Given the description of an element on the screen output the (x, y) to click on. 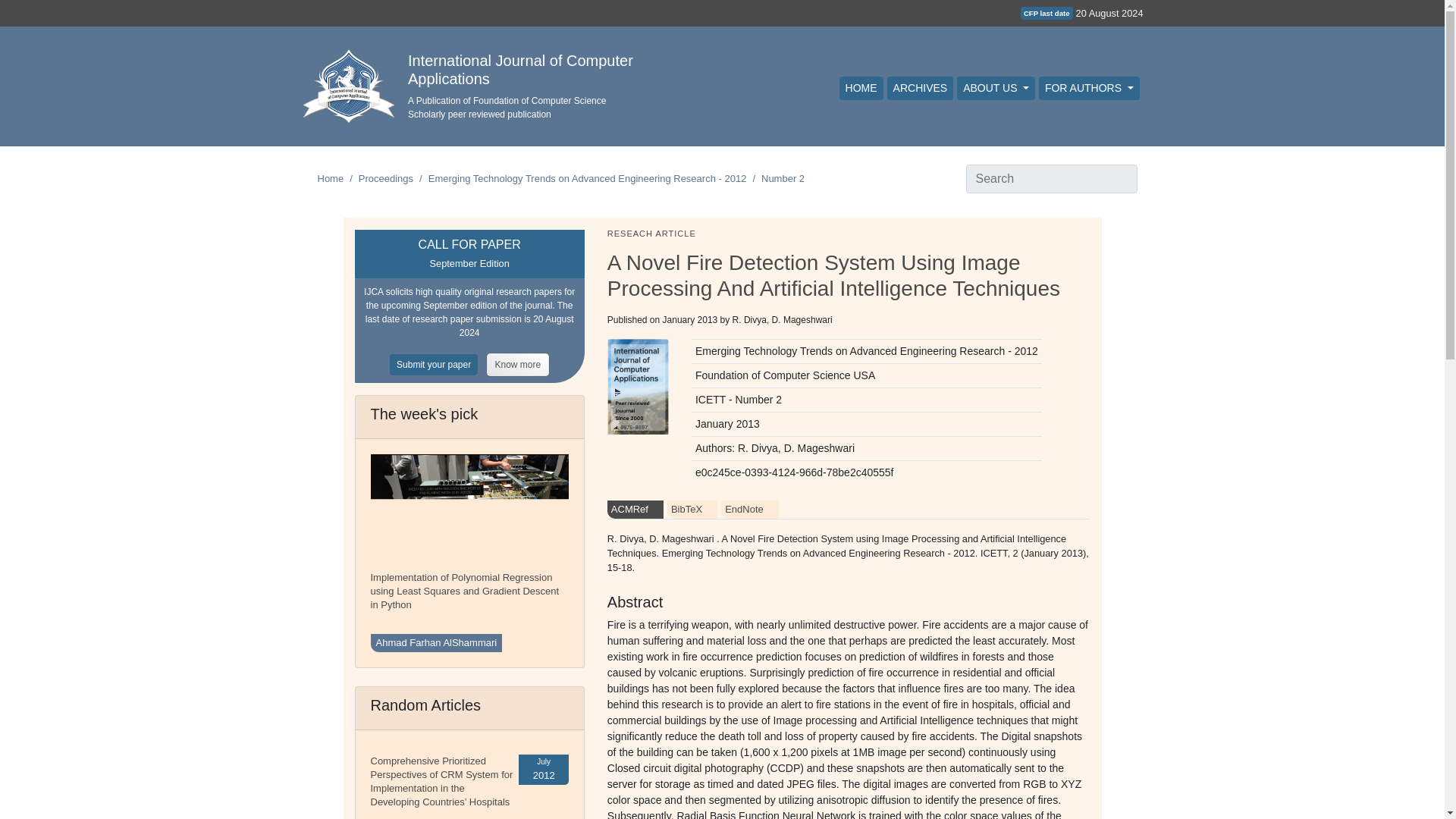
Number 2 (783, 178)
BibTeX (691, 509)
Know more (518, 363)
ABOUT US (995, 87)
Submit your paper (438, 363)
Ahmad Farhan AlShammari (435, 642)
Proceedings (385, 178)
EndNote (749, 509)
ARCHIVES (919, 87)
HOME (861, 87)
FOR AUTHORS (1089, 87)
Home (330, 178)
ACMRef (635, 509)
